Given the description of an element on the screen output the (x, y) to click on. 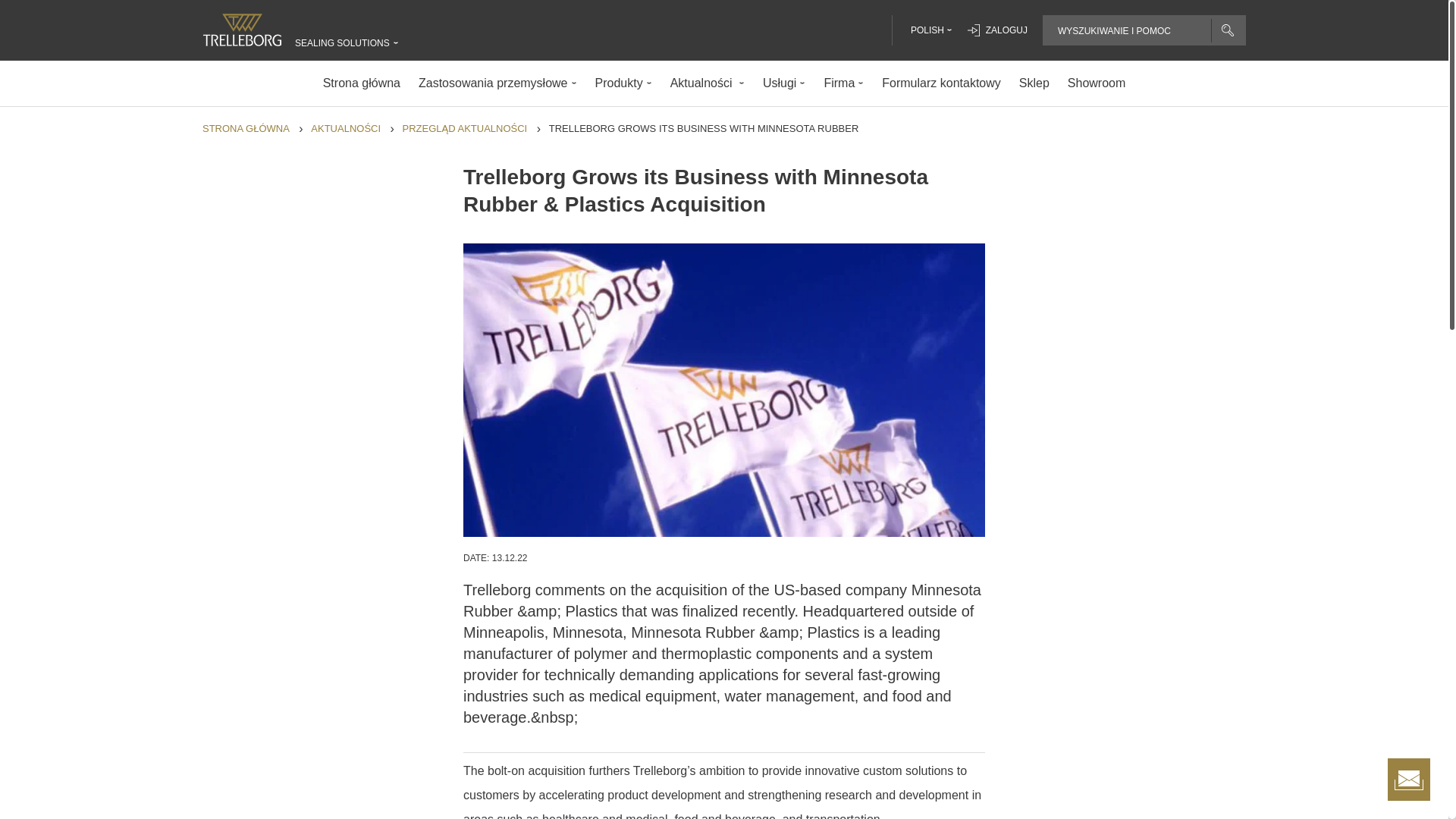
News (465, 128)
News and Events (345, 128)
SEALING SOLUTIONS (342, 42)
Trelleborg Grows its Business with Minnesota Rubber (703, 128)
Home (245, 128)
ZALOGUJ (997, 29)
